Given the description of an element on the screen output the (x, y) to click on. 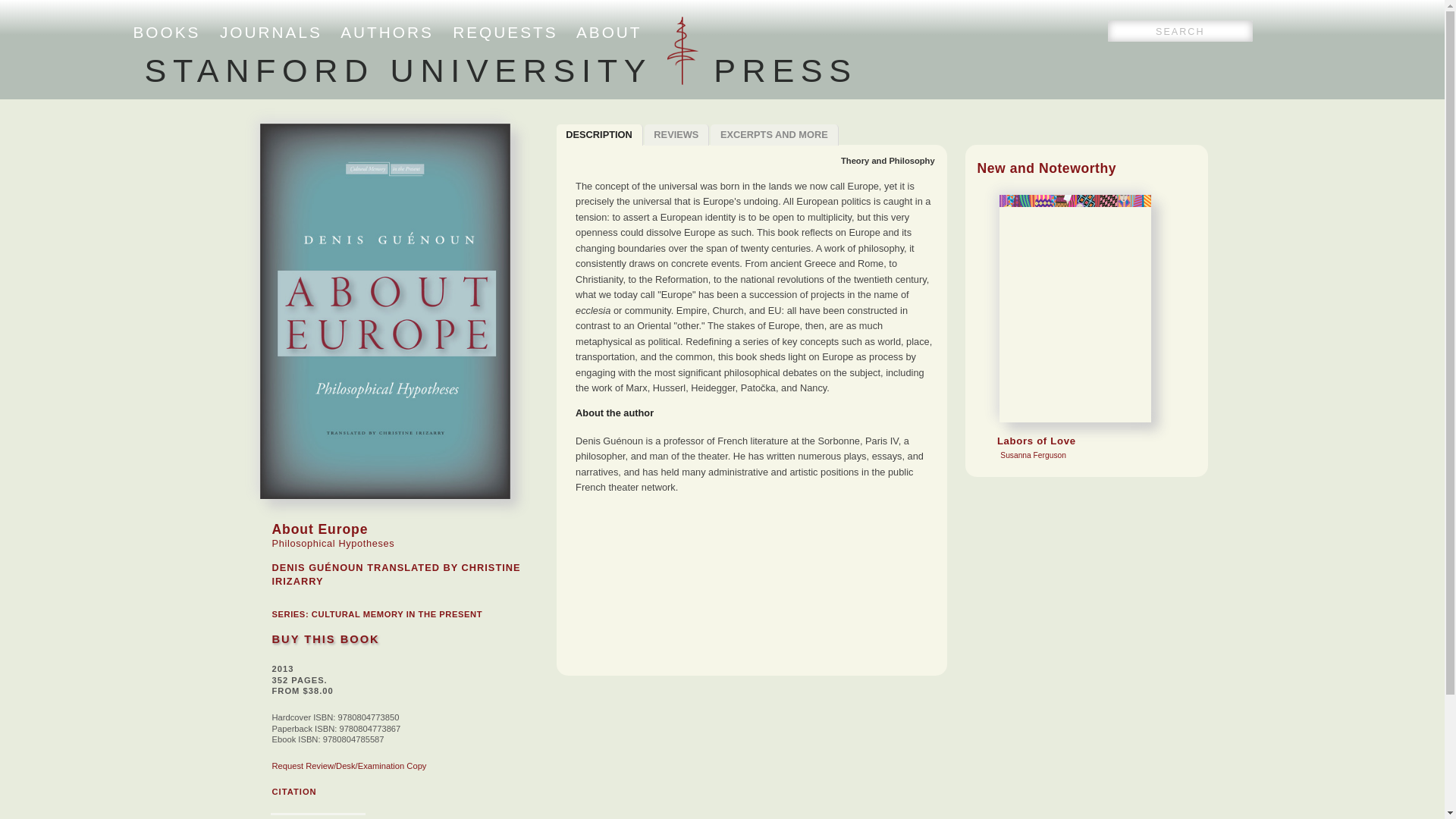
DESCRIPTION (599, 134)
REQUESTS (504, 31)
JOURNALS (270, 31)
ABOUT (609, 31)
BOOKS (166, 31)
Theory and Philosophy (887, 160)
CITATION (774, 134)
STANFORD UNIVERSITY PRESS (292, 791)
REVIEWS (500, 70)
